Given the description of an element on the screen output the (x, y) to click on. 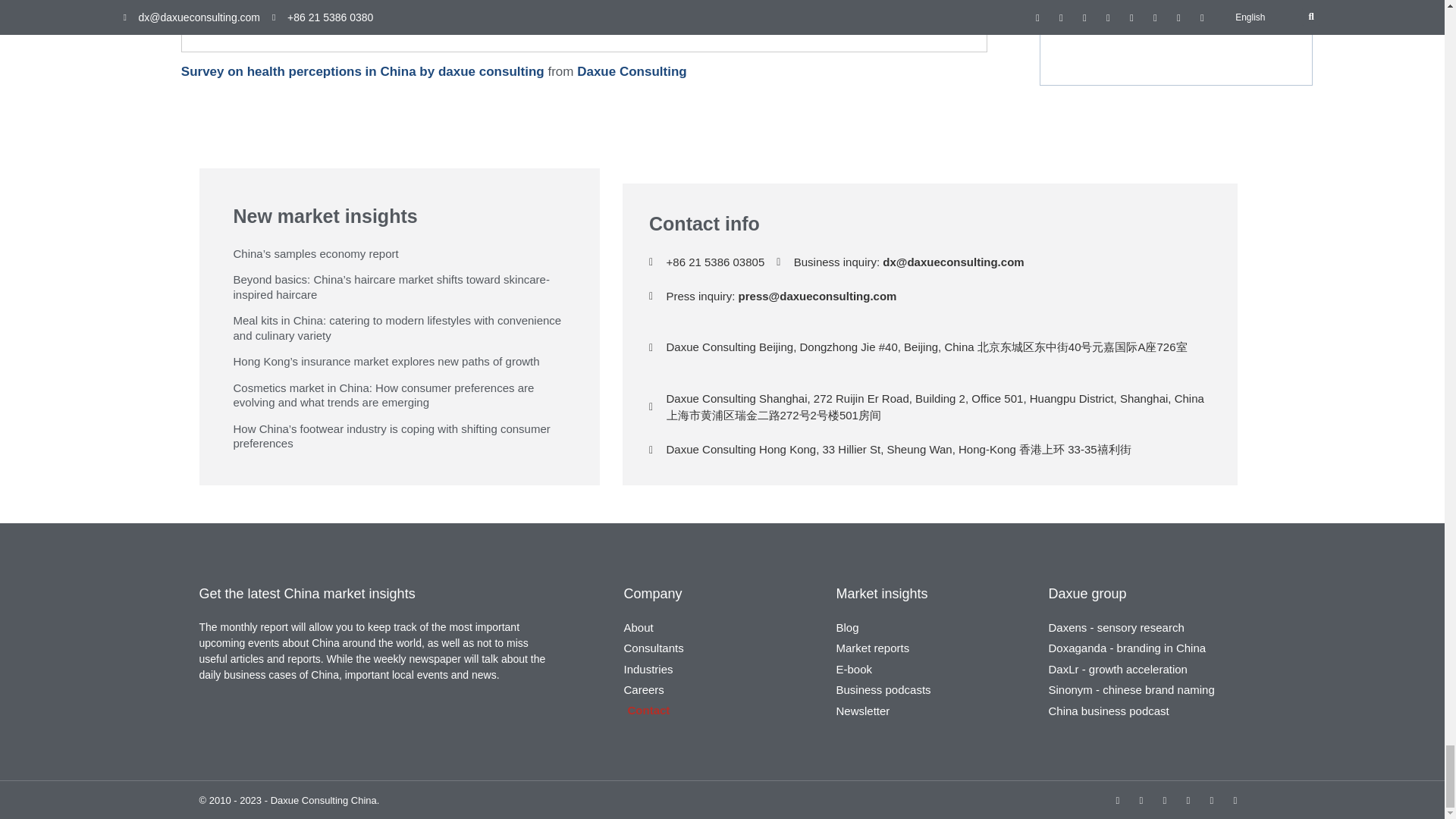
Survey on health perceptions in China by daxue consulting (362, 71)
